Given the description of an element on the screen output the (x, y) to click on. 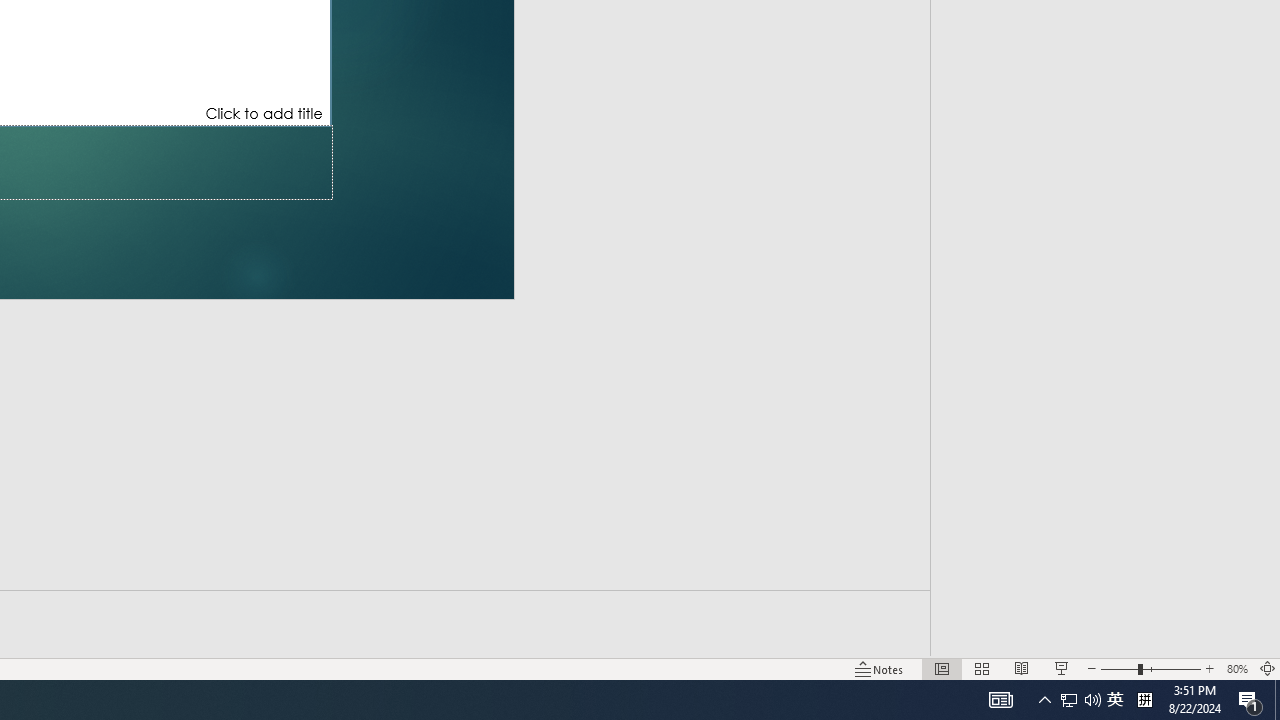
Action Center, 1 new notification (1250, 699)
